Given the description of an element on the screen output the (x, y) to click on. 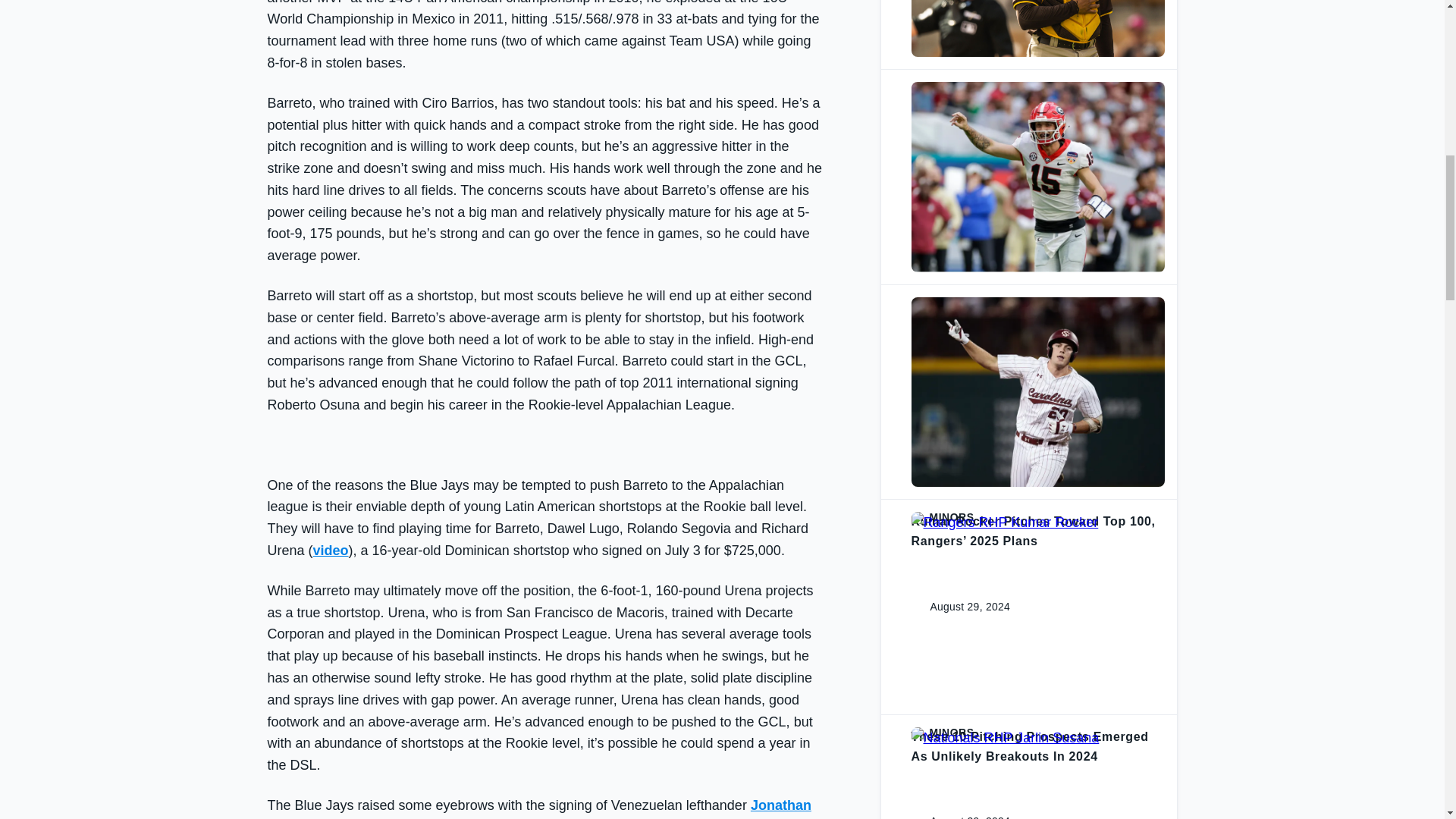
Post category (1037, 732)
Post date (957, 606)
Jonathan Torres (538, 808)
Post category (1037, 87)
Post date (957, 176)
video (331, 549)
Post date (957, 391)
Post category (1037, 302)
Post date (957, 816)
Post category (1037, 517)
